Given the description of an element on the screen output the (x, y) to click on. 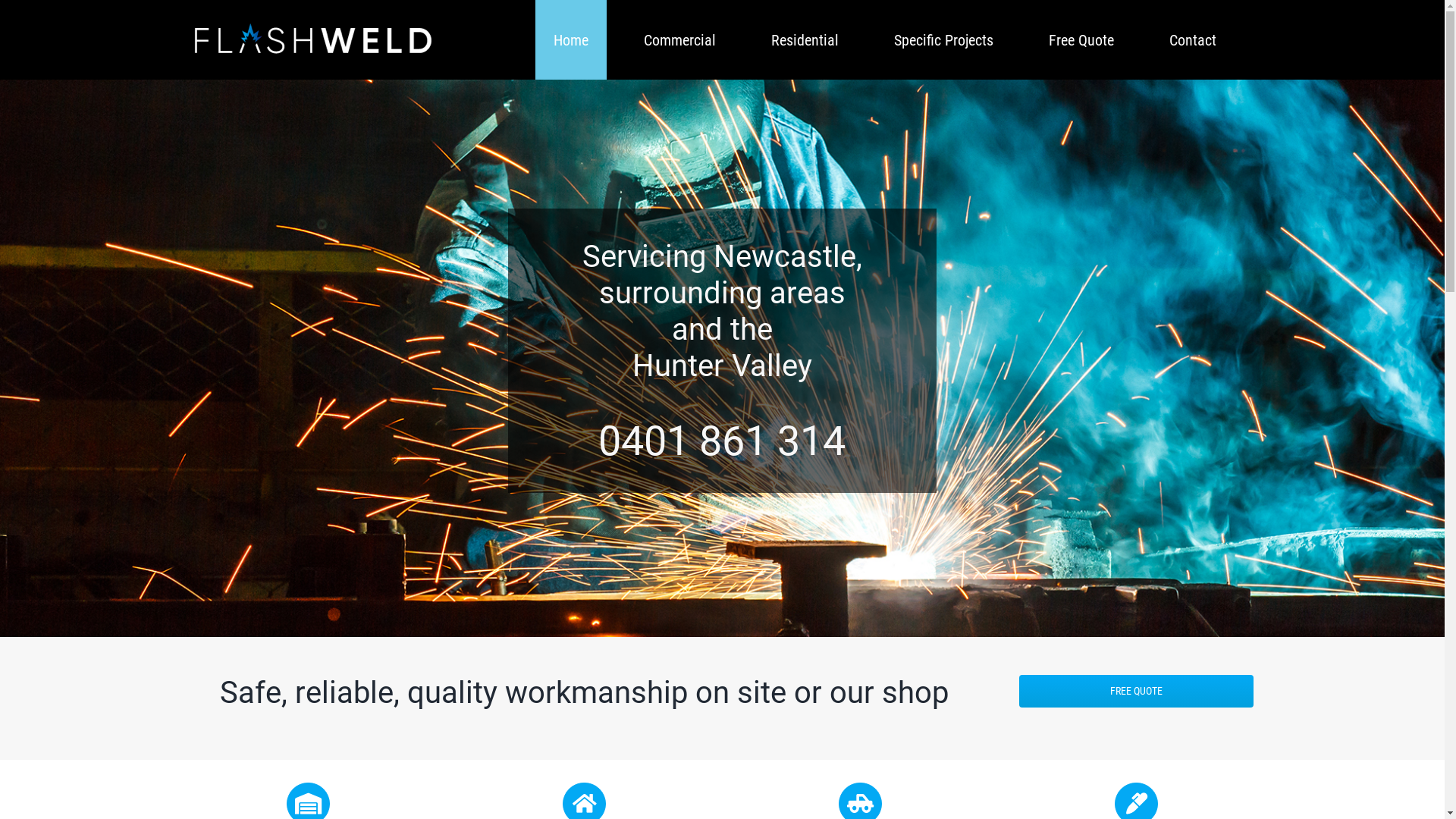
Commercial Element type: text (678, 39)
Home Element type: text (570, 39)
Free Quote Element type: text (1080, 39)
Specific Projects Element type: text (942, 39)
FREE QUOTE Element type: text (1135, 690)
Contact Element type: text (1192, 39)
Residential Element type: text (804, 39)
